Given the description of an element on the screen output the (x, y) to click on. 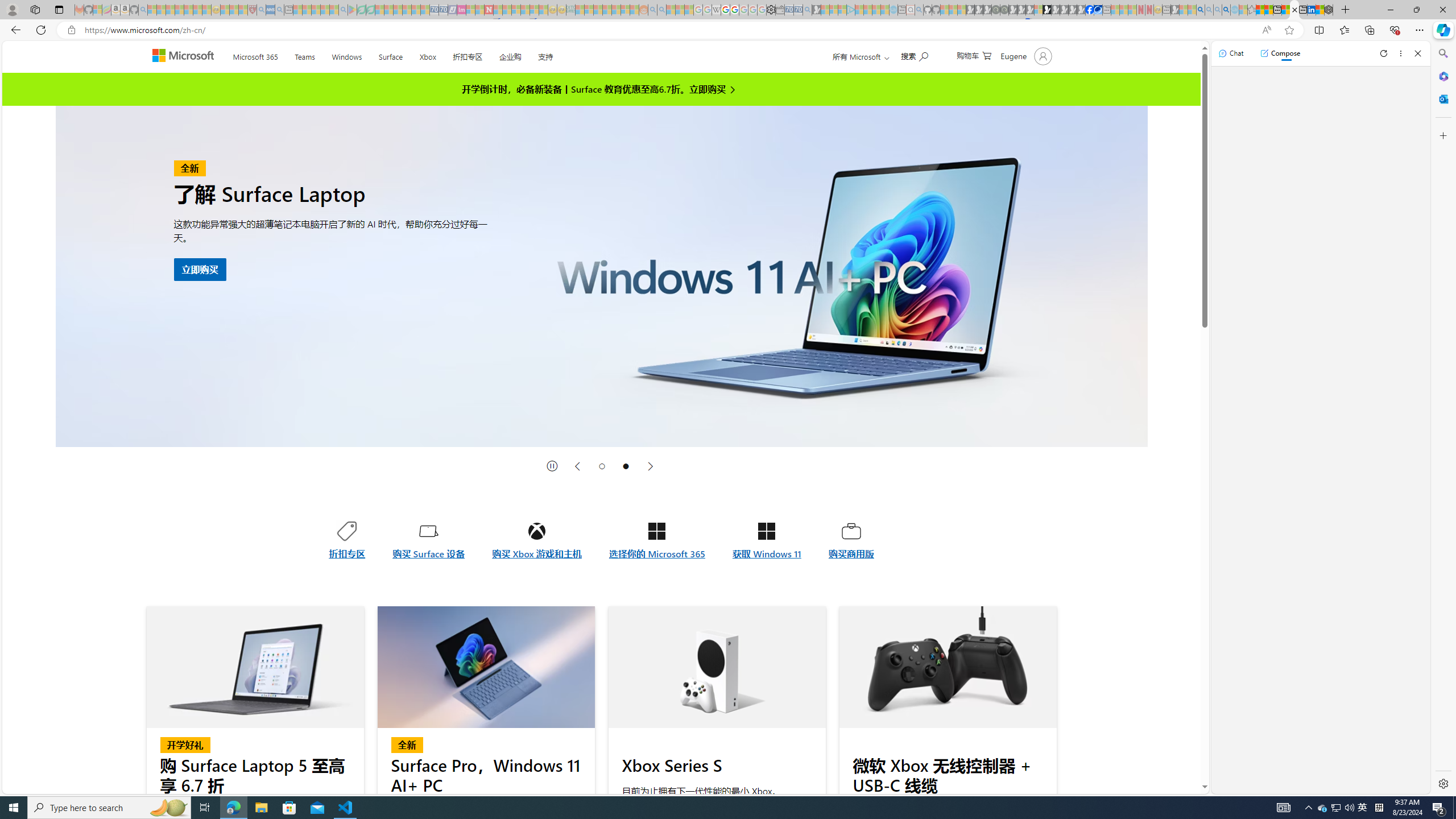
Future Focus Report 2024 - Sleeping (1004, 9)
Pause (552, 466)
Windows (346, 54)
Xbox (428, 54)
Local - MSN - Sleeping (242, 9)
